Given the description of an element on the screen output the (x, y) to click on. 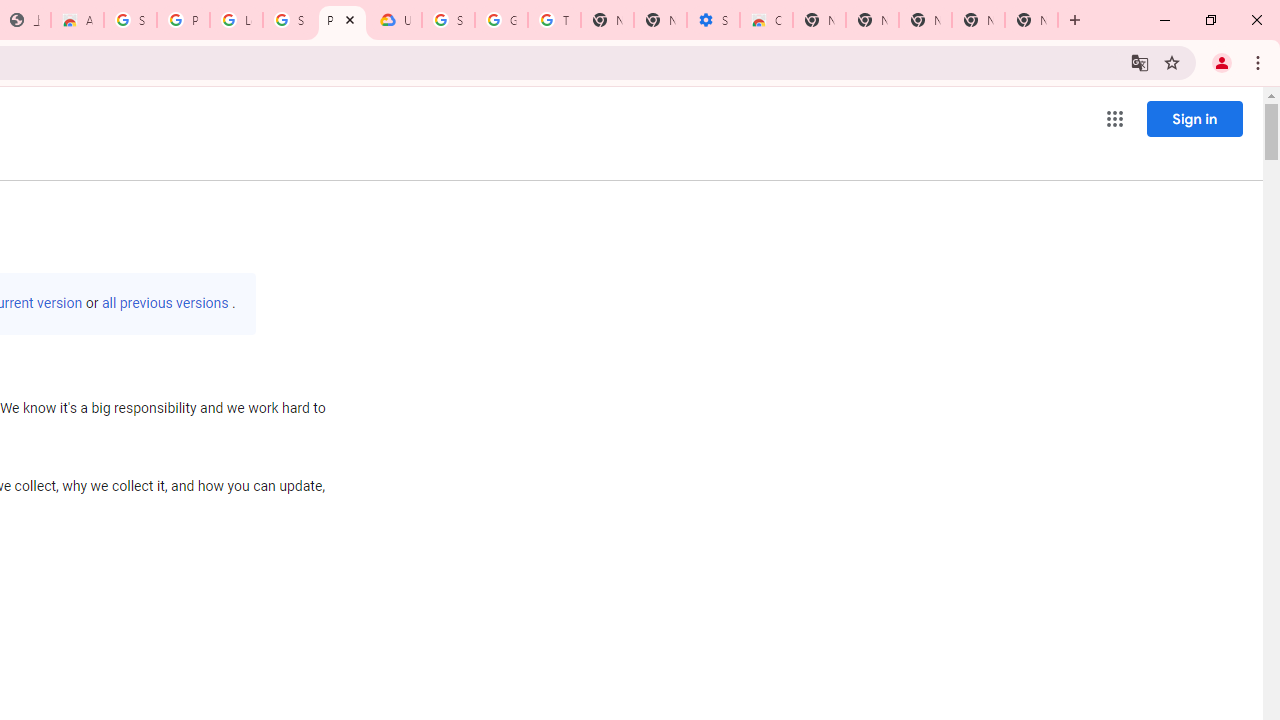
New Tab (819, 20)
Google Account Help (501, 20)
New Tab (925, 20)
Awesome Screen Recorder & Screenshot - Chrome Web Store (77, 20)
Google Apps (1114, 118)
